Given the description of an element on the screen output the (x, y) to click on. 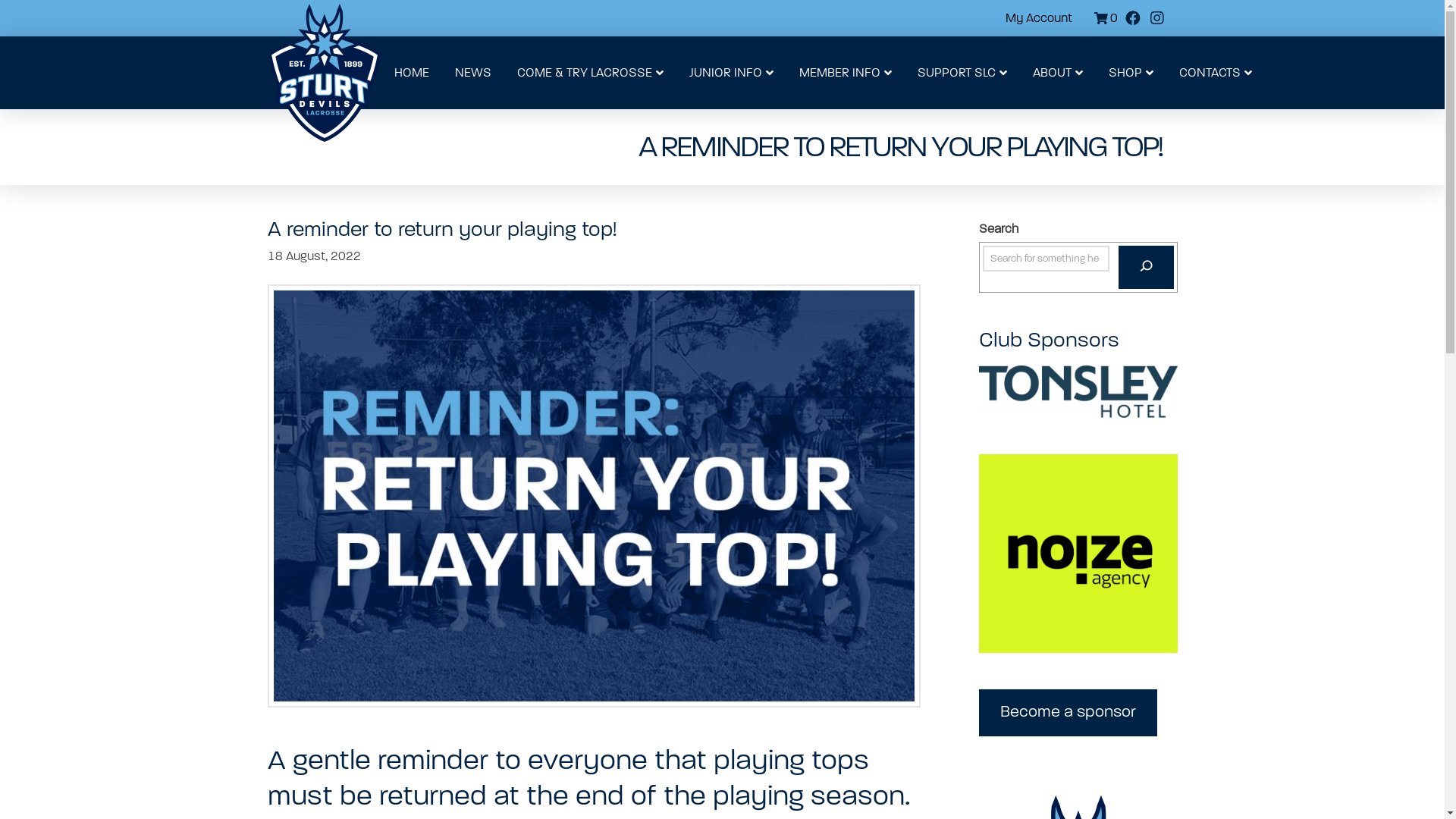
CONTACTS Element type: text (1215, 72)
Become a sponsor Element type: text (1068, 712)
COME & TRY LACROSSE Element type: text (589, 72)
NEWS Element type: text (472, 72)
SHOP Element type: text (1130, 72)
ABOUT Element type: text (1057, 72)
MEMBER INFO Element type: text (844, 72)
HOME Element type: text (410, 72)
JUNIOR INFO Element type: text (731, 72)
My Account Element type: text (1038, 17)
0 Element type: text (1103, 17)
SUPPORT SLC Element type: text (961, 72)
